Given the description of an element on the screen output the (x, y) to click on. 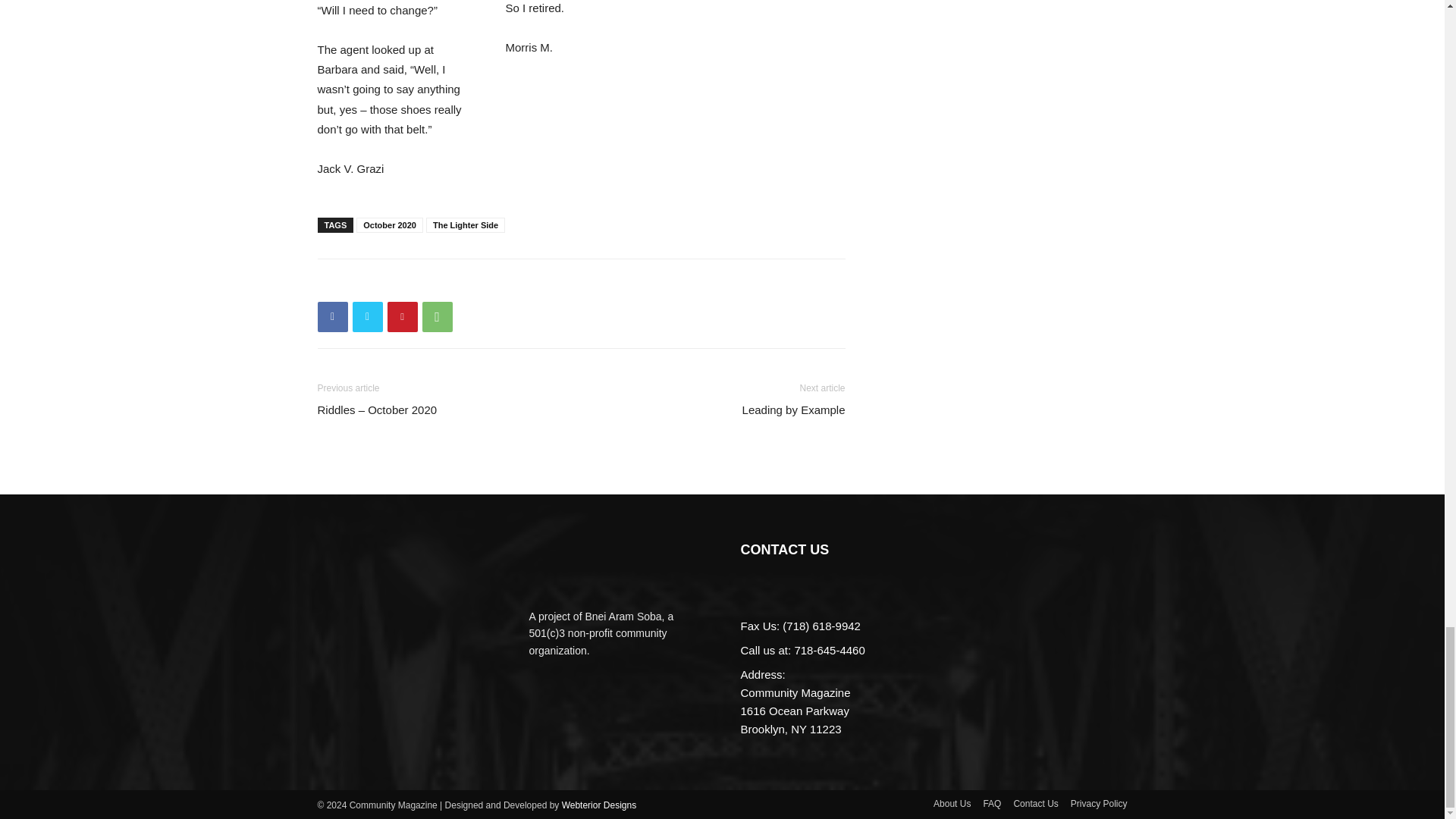
Facebook (332, 317)
